Given the description of an element on the screen output the (x, y) to click on. 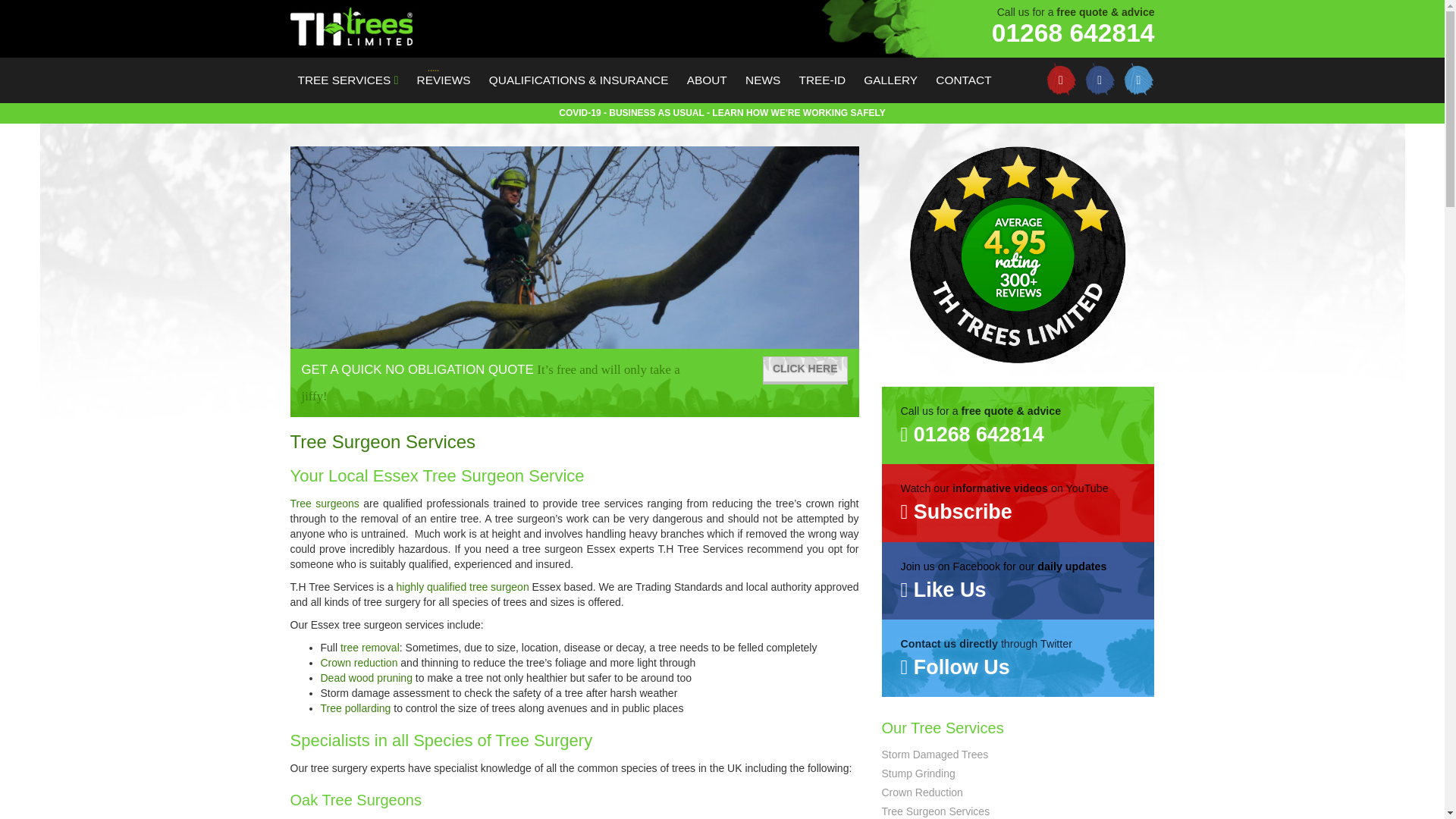
News (762, 80)
Link to TH Tree Services homepage (536, 24)
ABOUT (707, 80)
tree-id (821, 80)
NEWS (762, 80)
About (707, 80)
CONTACT (963, 80)
TREE SERVICES (347, 80)
Gallery (890, 80)
TREE-ID (821, 80)
REVIEWS (444, 80)
Tree Services (347, 80)
GALLERY (890, 80)
Contact (963, 80)
